Given the description of an element on the screen output the (x, y) to click on. 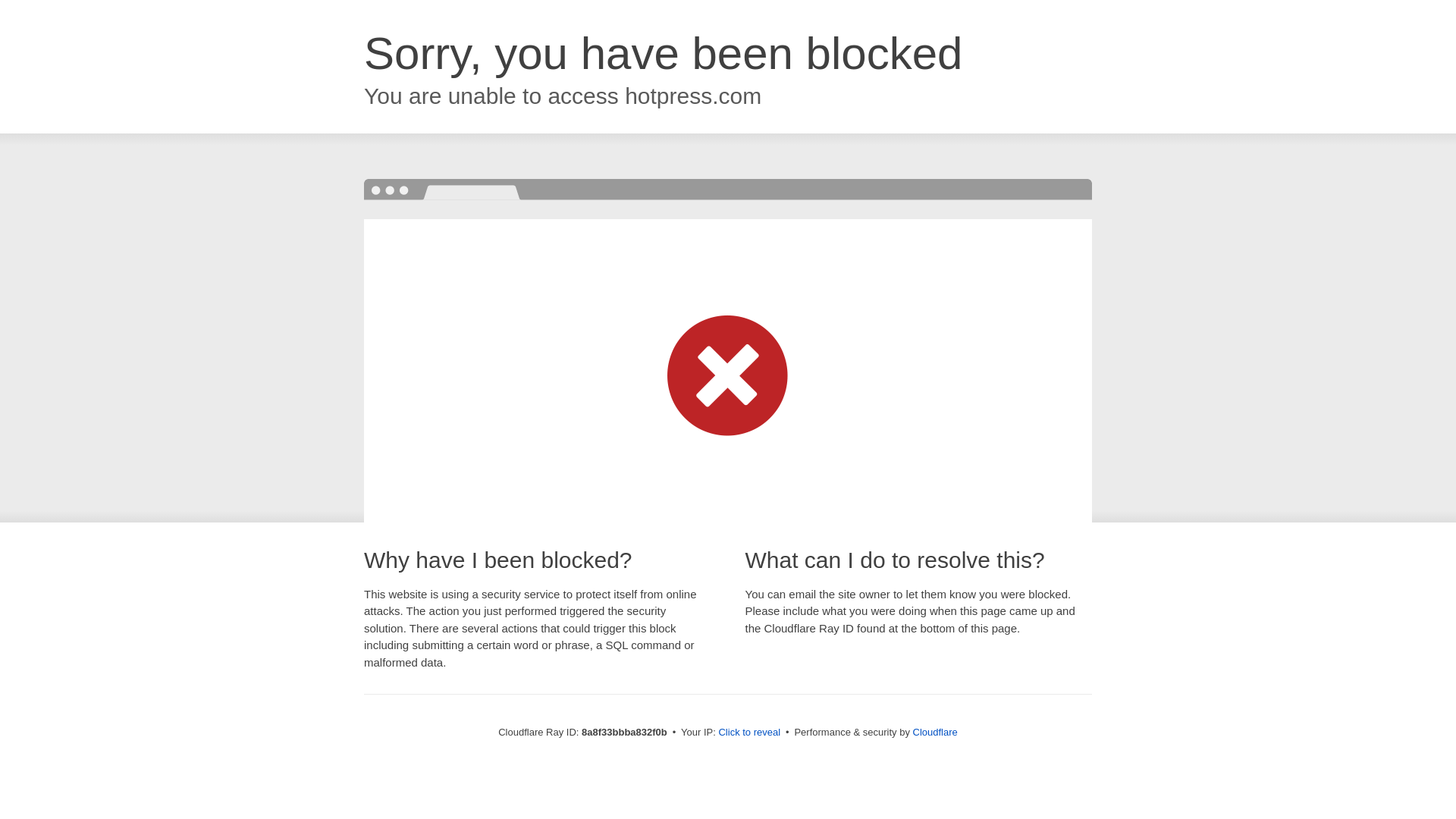
Click to reveal (748, 732)
Cloudflare (935, 731)
